Given the description of an element on the screen output the (x, y) to click on. 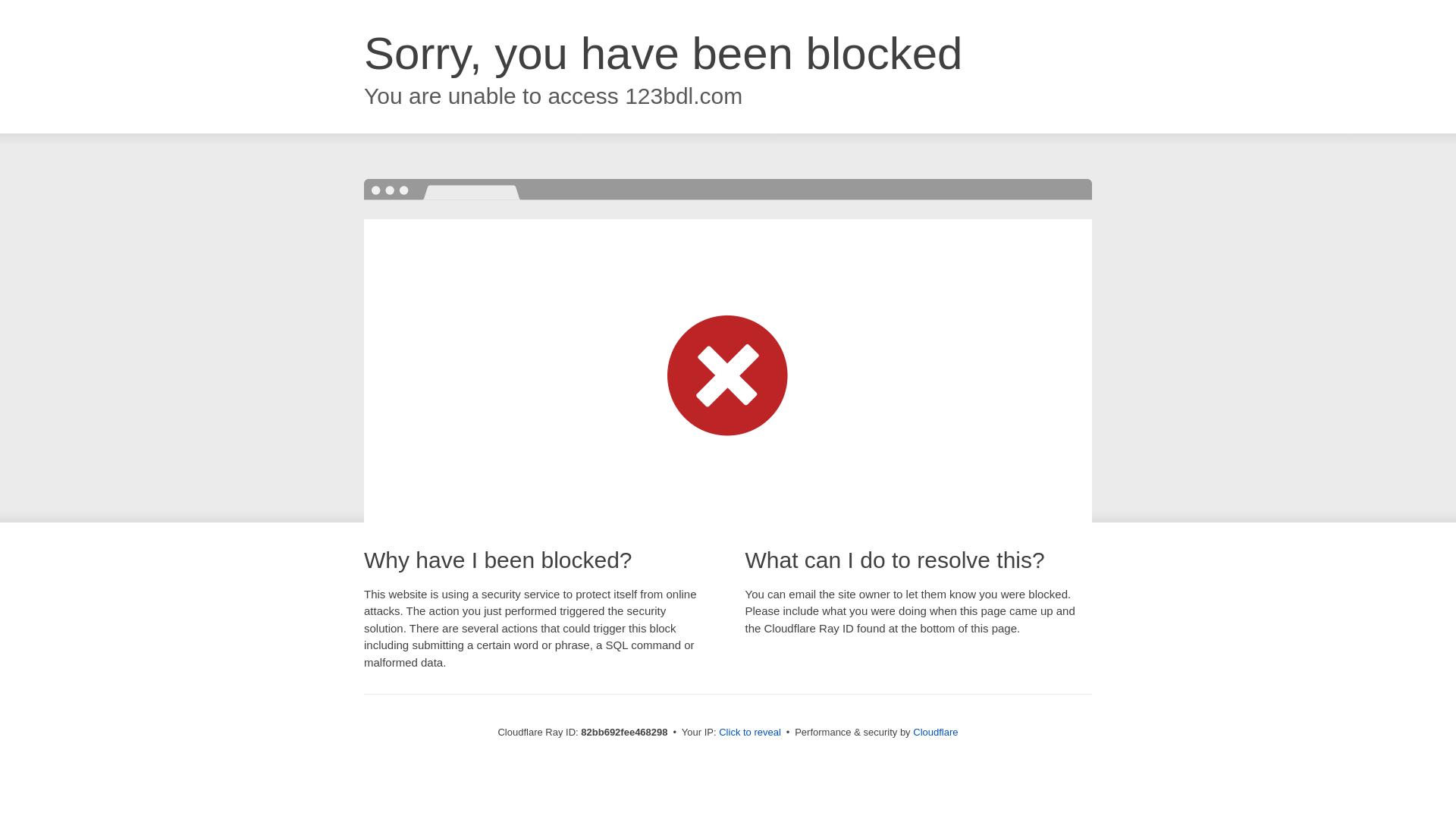
Cloudflare Element type: text (935, 731)
Click to reveal Element type: text (749, 732)
